Given the description of an element on the screen output the (x, y) to click on. 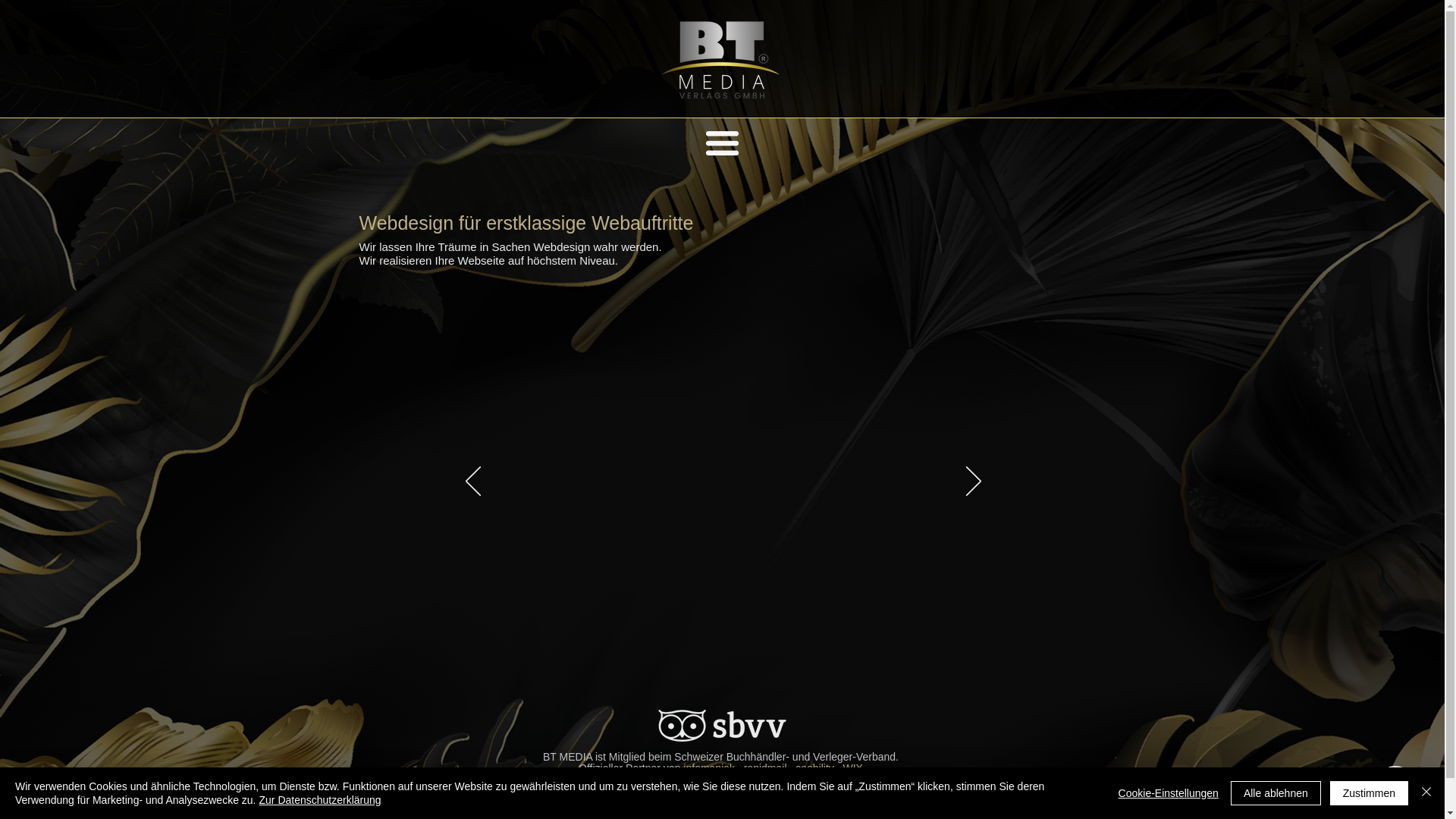
info@btmedia.ch Element type: text (799, 804)
EOM Element type: text (670, 780)
Alle ablehnen Element type: text (1275, 793)
Zustimmen Element type: text (1369, 793)
Ehrenkodex Mitglied Element type: text (732, 780)
